Given the description of an element on the screen output the (x, y) to click on. 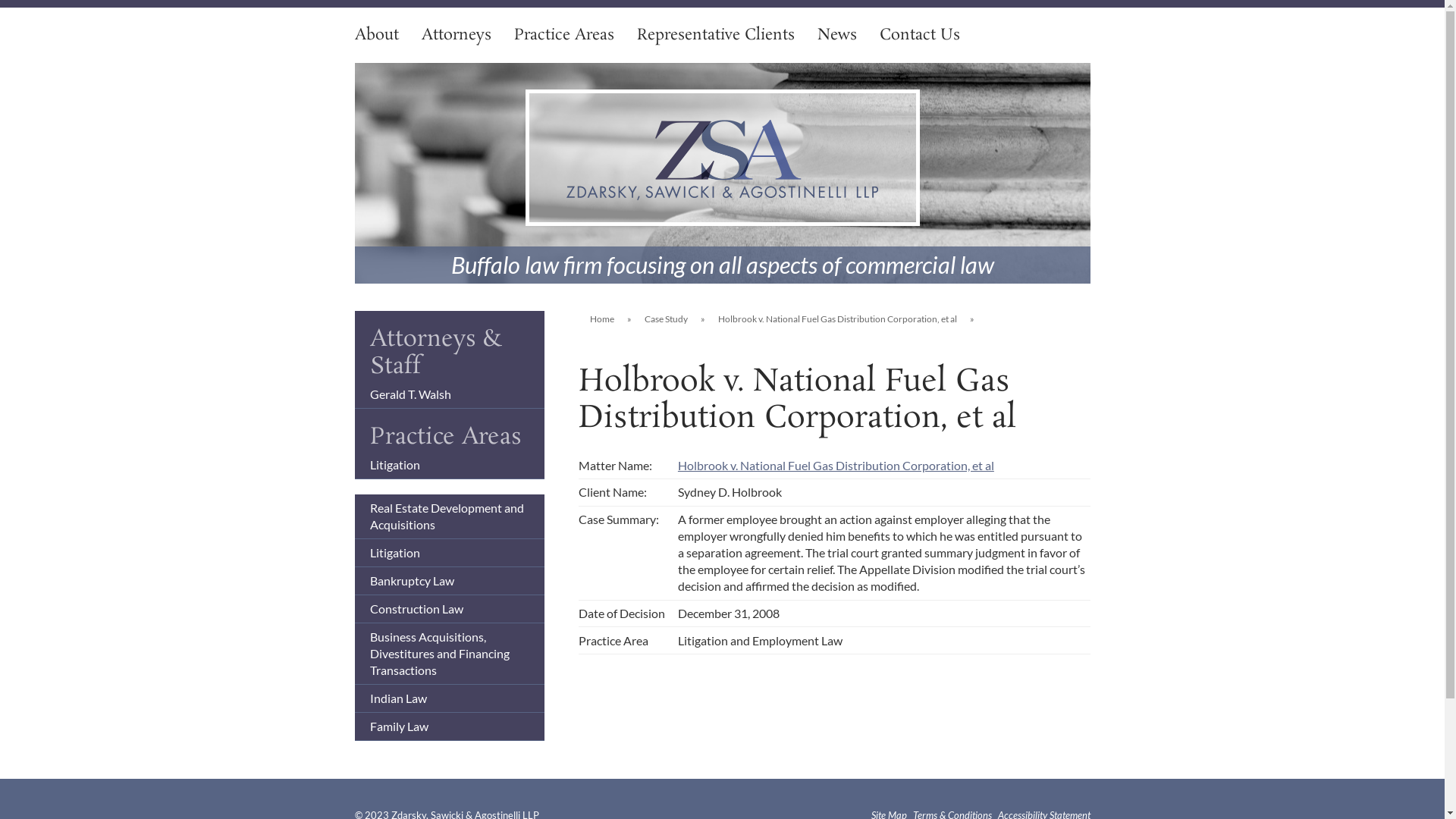
Contact Us Element type: text (919, 34)
Family Law Element type: text (399, 725)
Case Study Element type: text (666, 318)
Real Estate Development and Acquisitions Element type: text (447, 515)
Indian Law Element type: text (398, 697)
About Element type: text (376, 34)
Practice Areas Element type: text (564, 34)
Construction Law Element type: text (416, 608)
Representative Clients Element type: text (715, 34)
Gerald T. Walsh Element type: text (410, 393)
Attorneys Element type: text (456, 34)
Litigation Element type: text (395, 464)
Home Element type: text (601, 318)
News Element type: text (836, 34)
Litigation Element type: text (395, 552)
Bankruptcy Law Element type: text (412, 580)
